Given the description of an element on the screen output the (x, y) to click on. 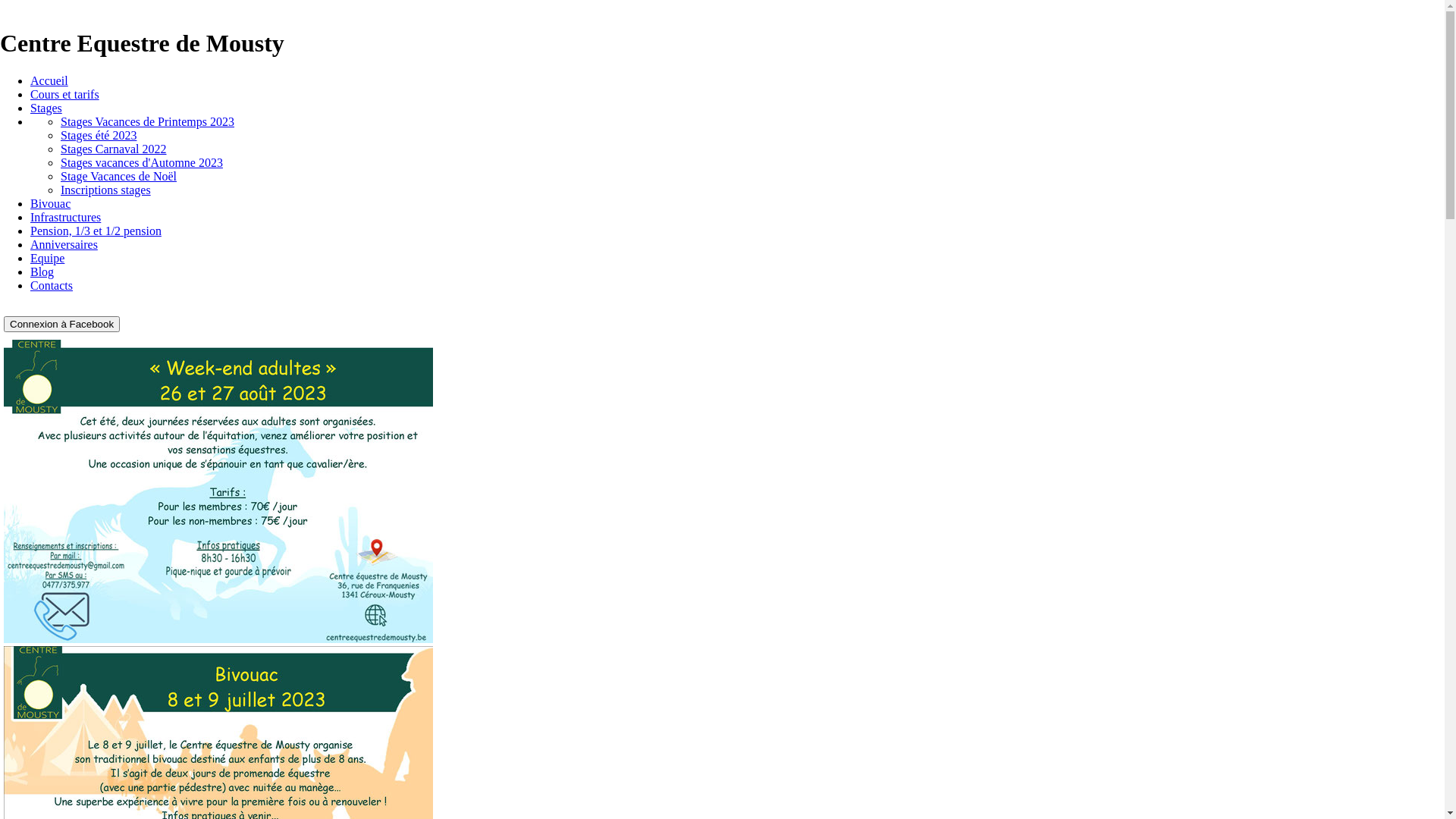
Infrastructures Element type: text (65, 216)
Equipe Element type: text (47, 257)
Stages Vacances de Printemps 2023 Element type: text (147, 121)
Contacts Element type: text (51, 285)
Inscriptions stages Element type: text (105, 189)
Stages Carnaval 2022 Element type: text (113, 148)
Blog Element type: text (41, 271)
Cours et tarifs Element type: text (64, 93)
Anniversaires Element type: text (63, 244)
Accueil Element type: text (49, 80)
Bivouac Element type: text (50, 203)
Pension, 1/3 et 1/2 pension Element type: text (95, 230)
Stages Element type: text (46, 107)
Stages vacances d'Automne 2023 Element type: text (141, 162)
